Given the description of an element on the screen output the (x, y) to click on. 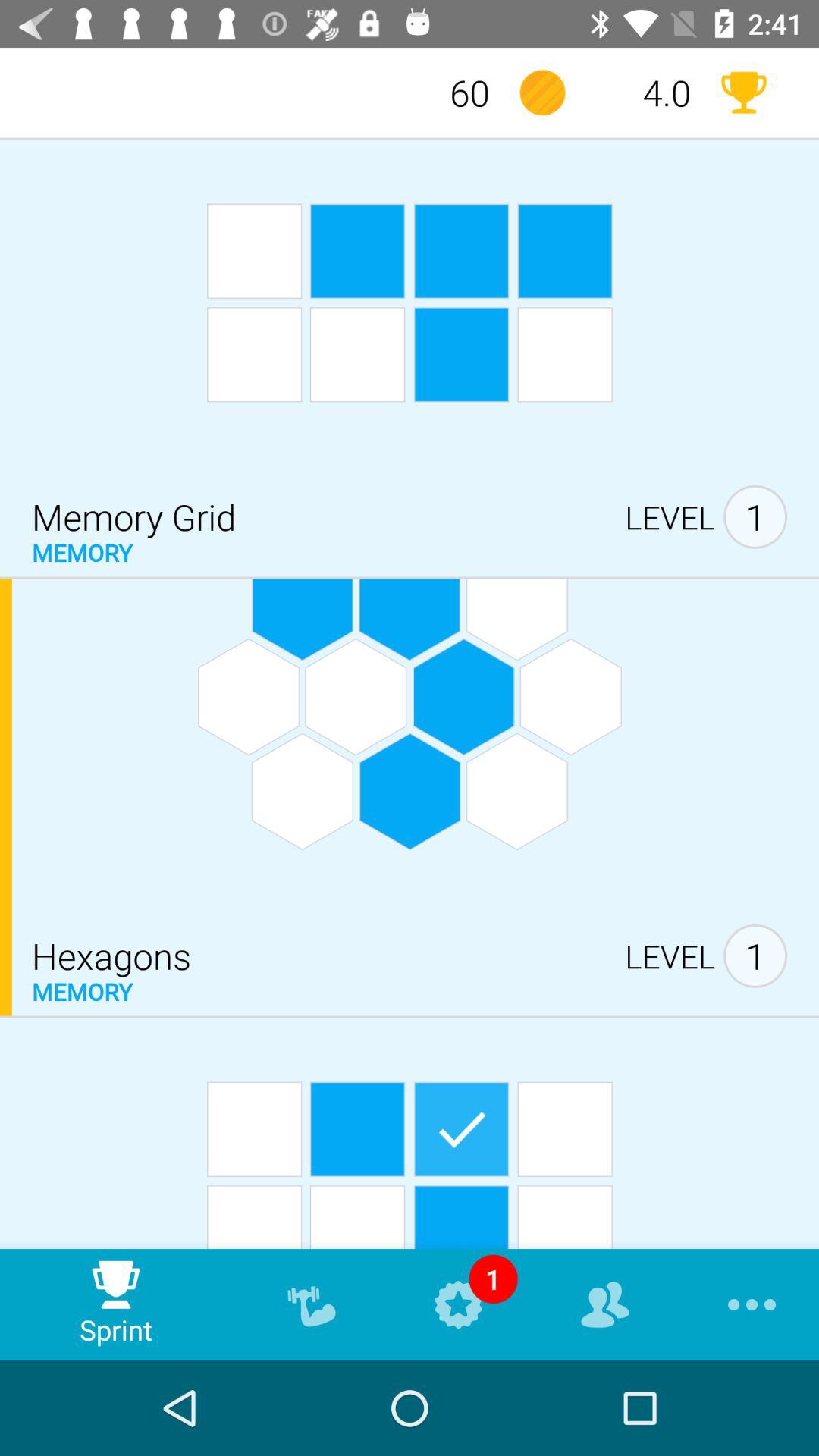
flip to 60 item (441, 92)
